Given the description of an element on the screen output the (x, y) to click on. 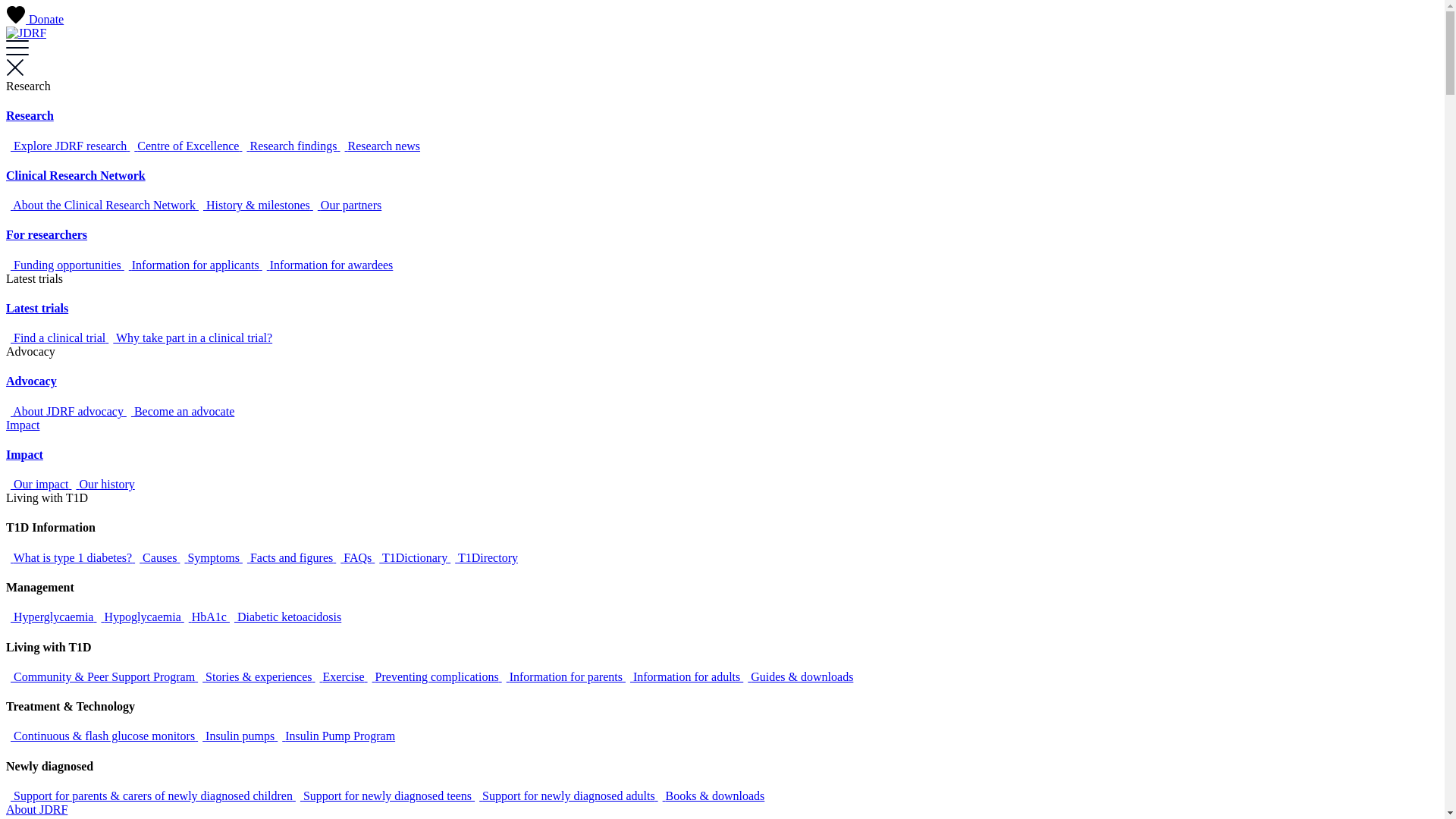
Support for newly diagnosed adults Element type: text (566, 795)
Books & downloads Element type: text (711, 795)
Clinical Research Network Element type: text (75, 175)
Information for parents Element type: text (563, 676)
For researchers Element type: text (46, 234)
About JDRF Element type: text (36, 809)
About the Clinical Research Network Element type: text (102, 204)
Advocacy Element type: text (31, 380)
Impact Element type: text (22, 424)
Causes Element type: text (156, 557)
Explore JDRF research Element type: text (67, 145)
Stories & experiences Element type: text (255, 676)
Information for applicants Element type: text (193, 264)
Preventing complications Element type: text (434, 676)
What is type 1 diabetes? Element type: text (70, 557)
Why take part in a clinical trial? Element type: text (190, 337)
FAQs Element type: text (354, 557)
Continuous & flash glucose monitors Element type: text (101, 735)
Funding opportunities Element type: text (65, 264)
Support for newly diagnosed teens Element type: text (384, 795)
Our impact Element type: text (38, 483)
Donate Element type: text (34, 18)
Symptoms Element type: text (210, 557)
Become an advocate Element type: text (180, 410)
Insulin pumps Element type: text (237, 735)
Impact Element type: text (24, 454)
Community & Peer Support Program Element type: text (101, 676)
Facts and figures Element type: text (288, 557)
Find a clinical trial Element type: text (57, 337)
T1Dictionary Element type: text (412, 557)
Information for adults Element type: text (684, 676)
History & milestones Element type: text (255, 204)
Support for parents & carers of newly diagnosed children Element type: text (150, 795)
Our partners Element type: text (347, 204)
HbA1c Element type: text (206, 616)
T1Directory Element type: text (483, 557)
Exercise Element type: text (341, 676)
Hypoglycaemia Element type: text (139, 616)
Research news Element type: text (380, 145)
Hyperglycaemia Element type: text (51, 616)
Diabetic ketoacidosis Element type: text (285, 616)
Guides & downloads Element type: text (798, 676)
Research Element type: text (29, 115)
Information for awardees Element type: text (327, 264)
Latest trials Element type: text (37, 307)
Insulin Pump Program Element type: text (336, 735)
Centre of Excellence Element type: text (185, 145)
Research findings Element type: text (290, 145)
About JDRF advocacy Element type: text (66, 410)
Our history Element type: text (102, 483)
